Given the description of an element on the screen output the (x, y) to click on. 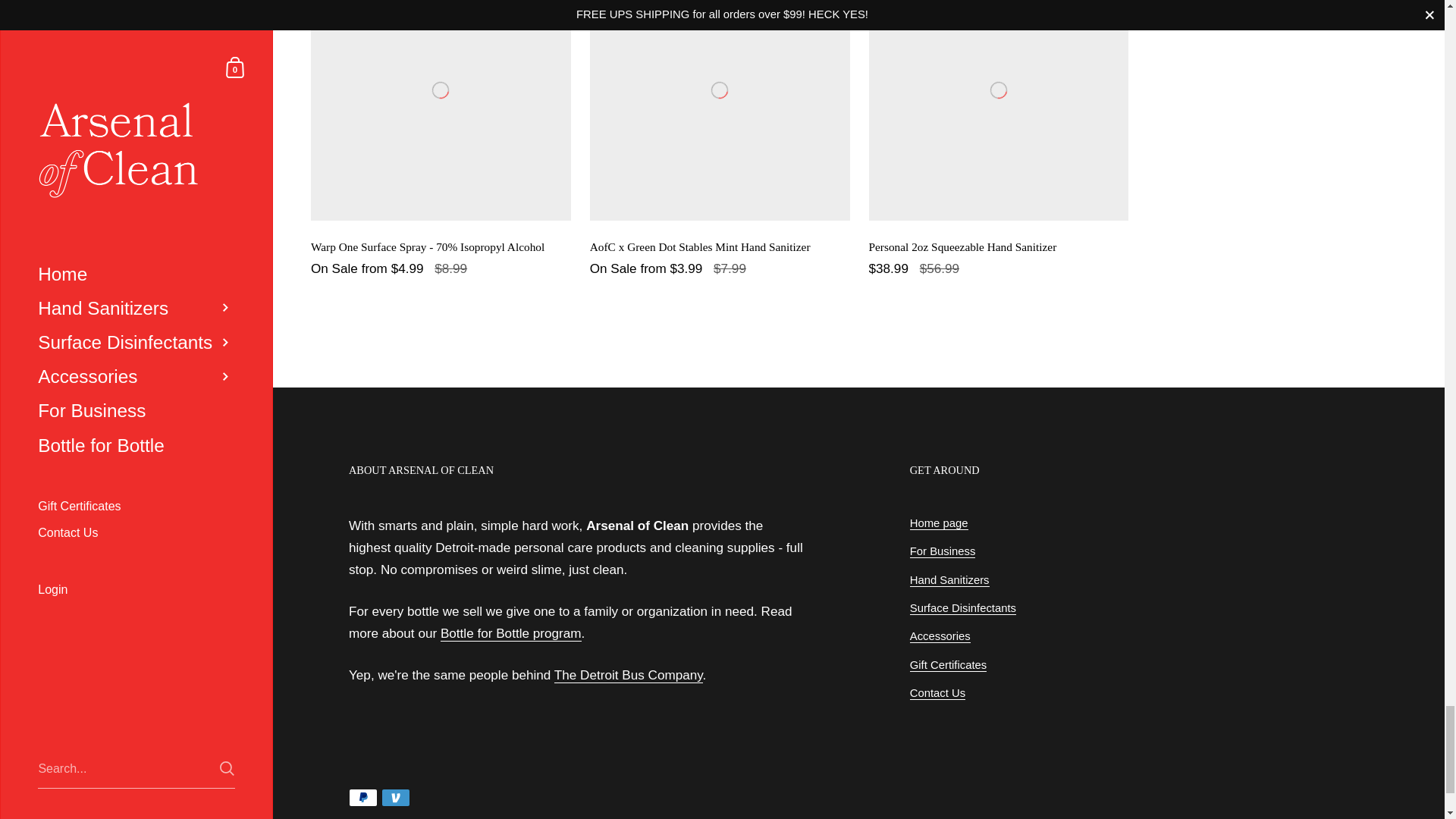
Venmo (395, 797)
Bottle for Bottle (510, 633)
PayPal (363, 797)
